Given the description of an element on the screen output the (x, y) to click on. 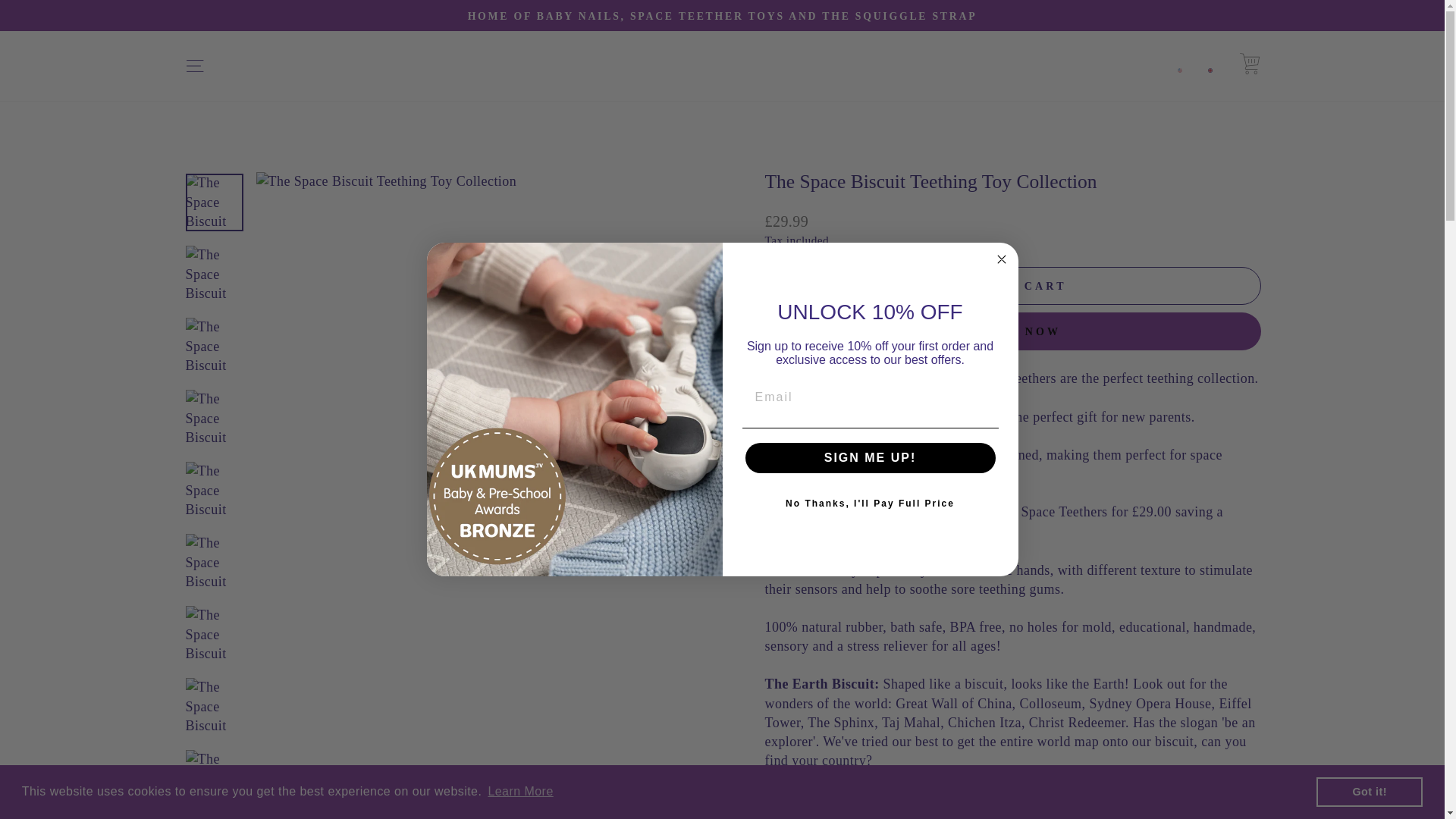
SITE NAVIGATION (194, 65)
Earth Biscuit Space Teether Toy (856, 512)
Thumble UK (1209, 65)
Got it! (1369, 791)
Moon Biscuit Natural Rubber Space Teether Toy (897, 512)
Learn More (520, 791)
Mars Biscuit Natural Rubber Space Themed Teether Toy (957, 512)
Thumble USA (1180, 65)
